Given the description of an element on the screen output the (x, y) to click on. 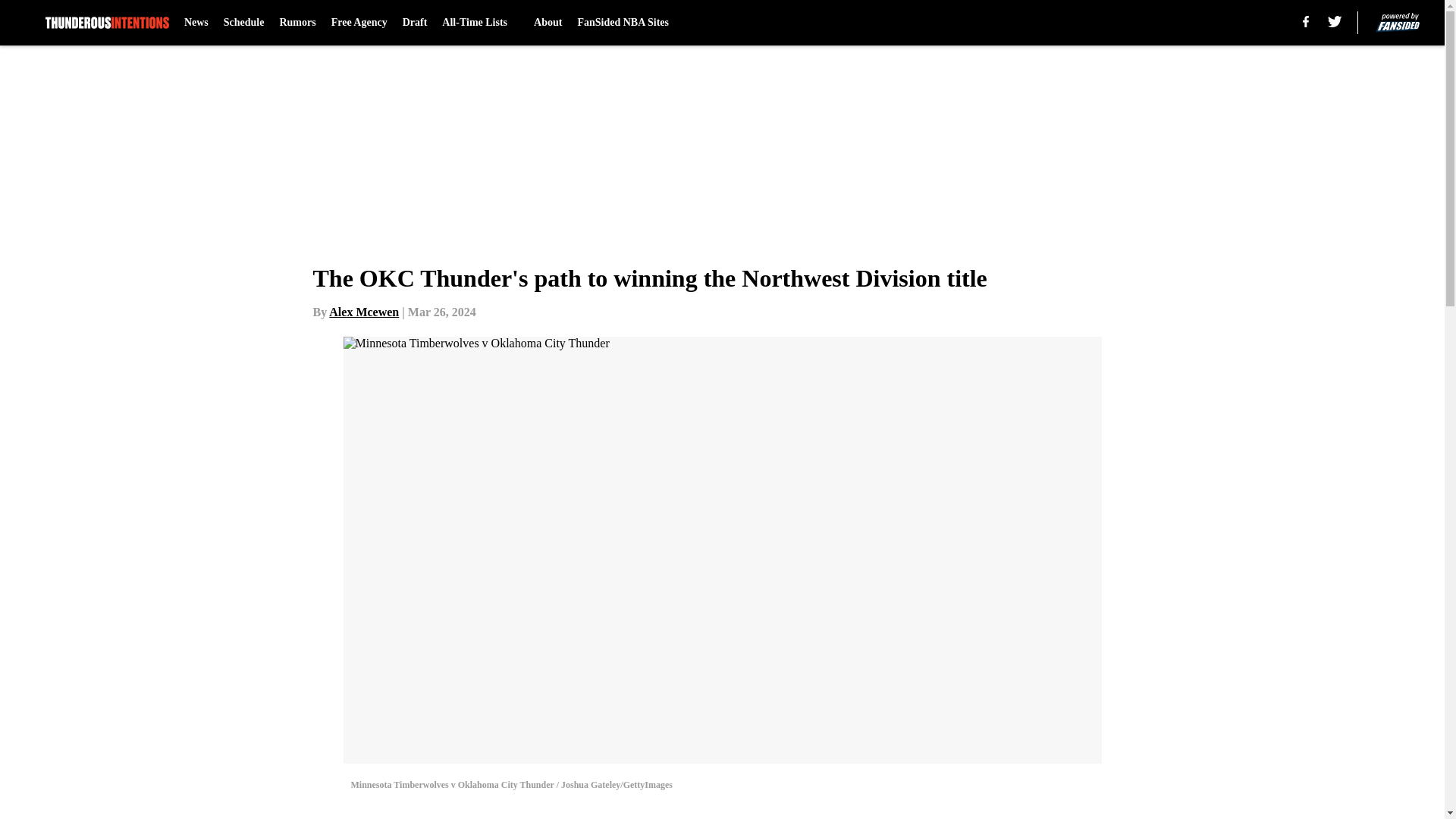
All-Time Lists (480, 22)
News (196, 22)
Alex Mcewen (363, 311)
FanSided NBA Sites (622, 22)
Schedule (244, 22)
Draft (415, 22)
Rumors (297, 22)
Free Agency (359, 22)
About (548, 22)
